Given the description of an element on the screen output the (x, y) to click on. 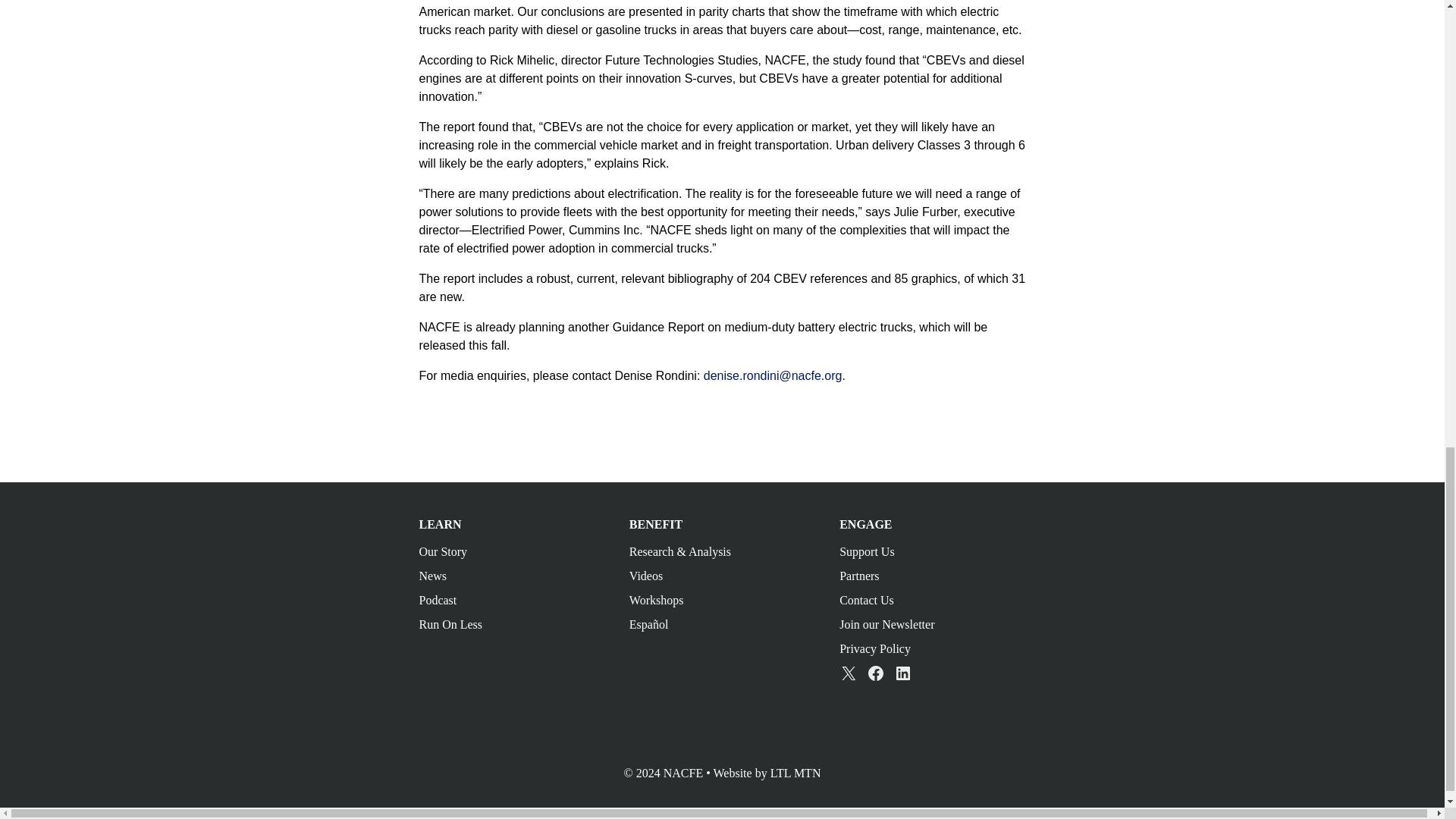
X (848, 673)
News (432, 575)
Join our Newsletter (887, 624)
Support Us (866, 551)
Privacy Policy (875, 648)
Our Story (443, 551)
Run On Less (450, 624)
Facebook (875, 673)
Workshops (656, 599)
Partners (859, 575)
